Given the description of an element on the screen output the (x, y) to click on. 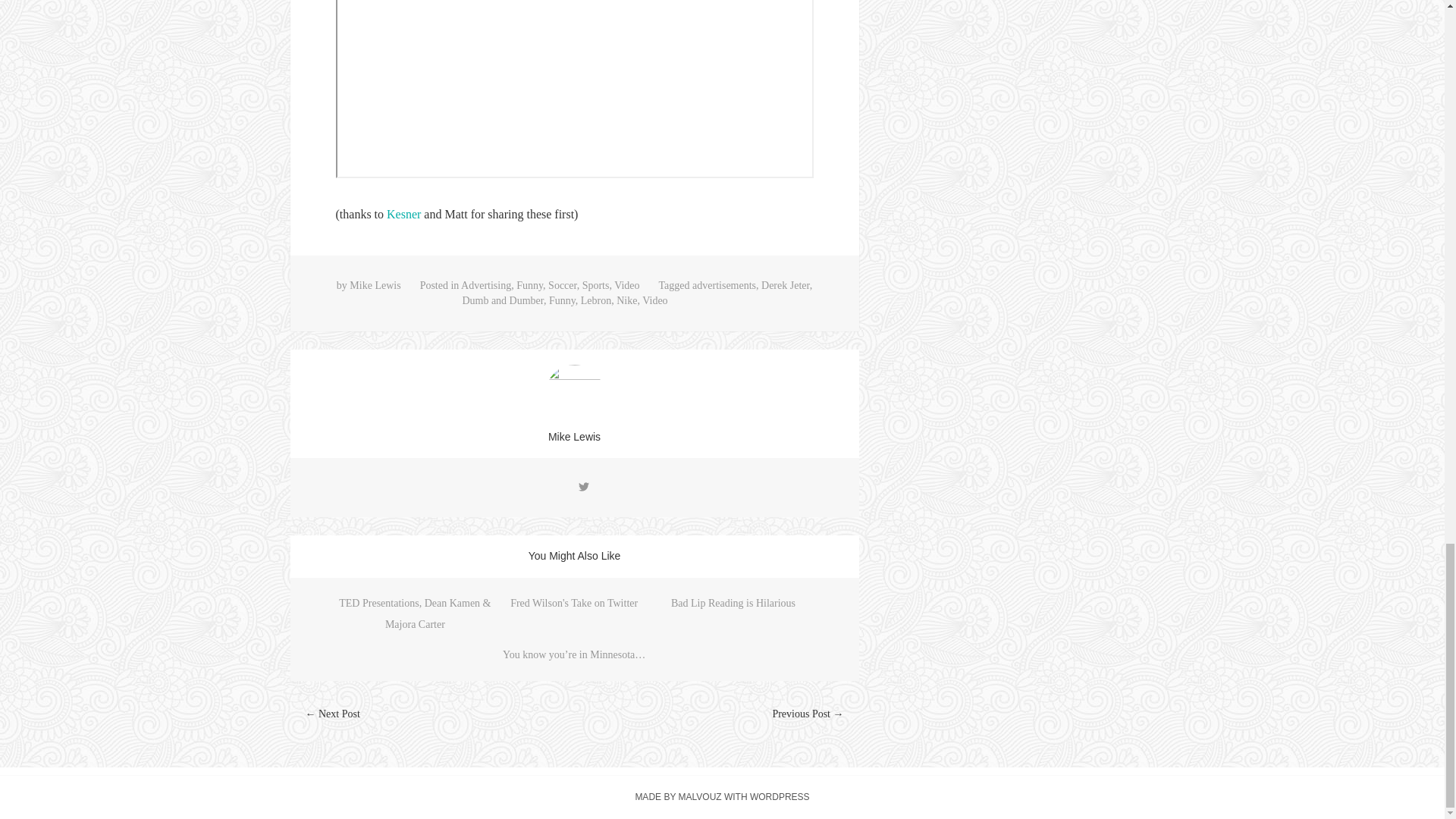
Mike Lewis (374, 285)
Funny (561, 300)
Sports (596, 285)
Funny (529, 285)
Video (654, 300)
Lebron (595, 300)
Nike (626, 300)
Dumb and Dumber (502, 300)
Bad Lip Reading is Hilarious (732, 603)
Posts by Mike Lewis (573, 436)
